Given the description of an element on the screen output the (x, y) to click on. 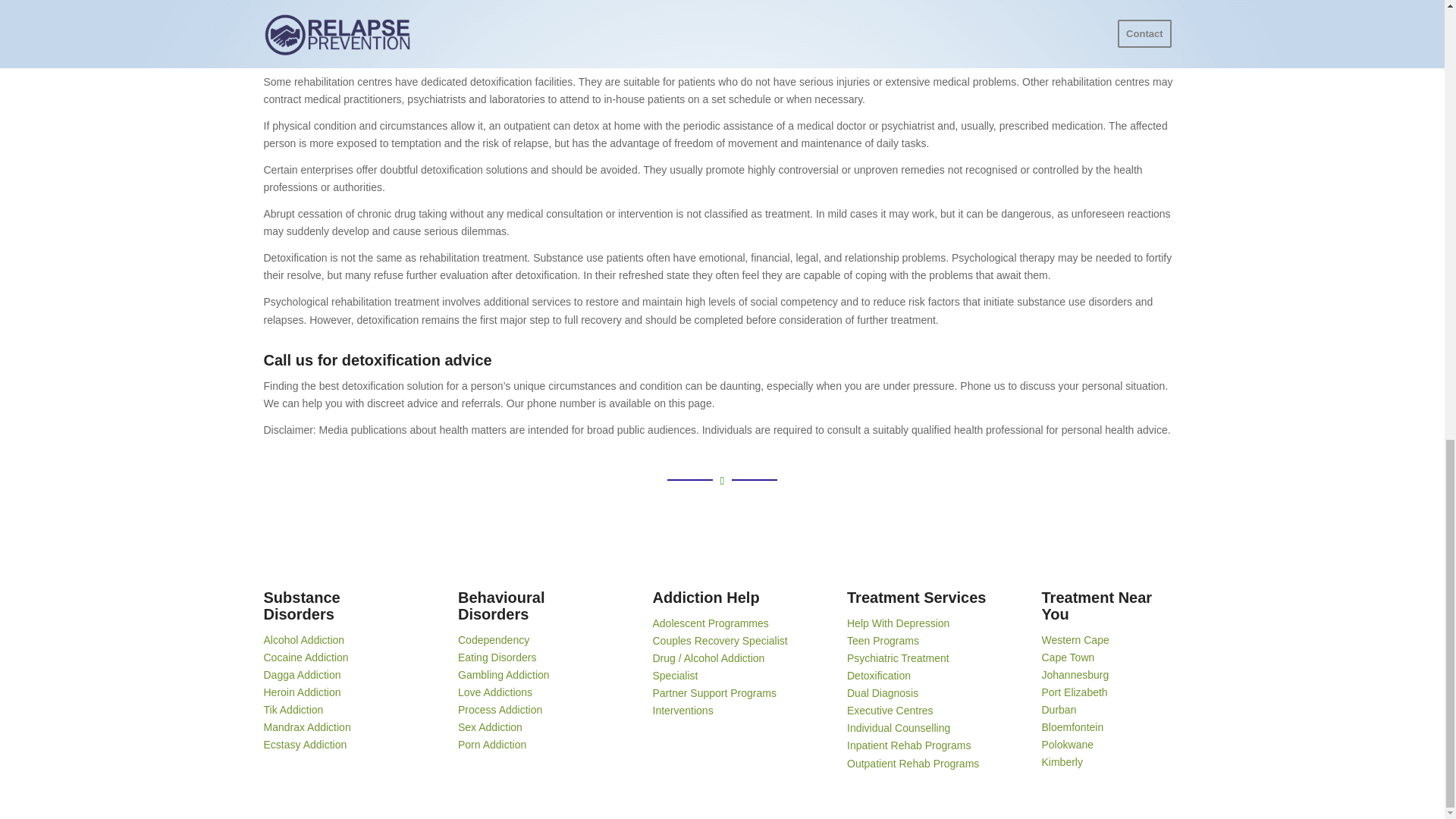
Cocaine Addiction (306, 657)
Individual Counselling (898, 727)
Detoxification (879, 675)
Dagga Addiction (301, 674)
Substance Disorders (301, 605)
Psychiatric Treatment (898, 657)
Eating Disorders (497, 657)
Outpatient Rehab Programs (912, 762)
Executive Centres (890, 710)
Codependency (493, 639)
Mandrax Addiction (306, 727)
Depression Treatment in South Africa (898, 623)
Interventions (682, 710)
Process Addiction (499, 709)
Teen Programs (882, 640)
